Given the description of an element on the screen output the (x, y) to click on. 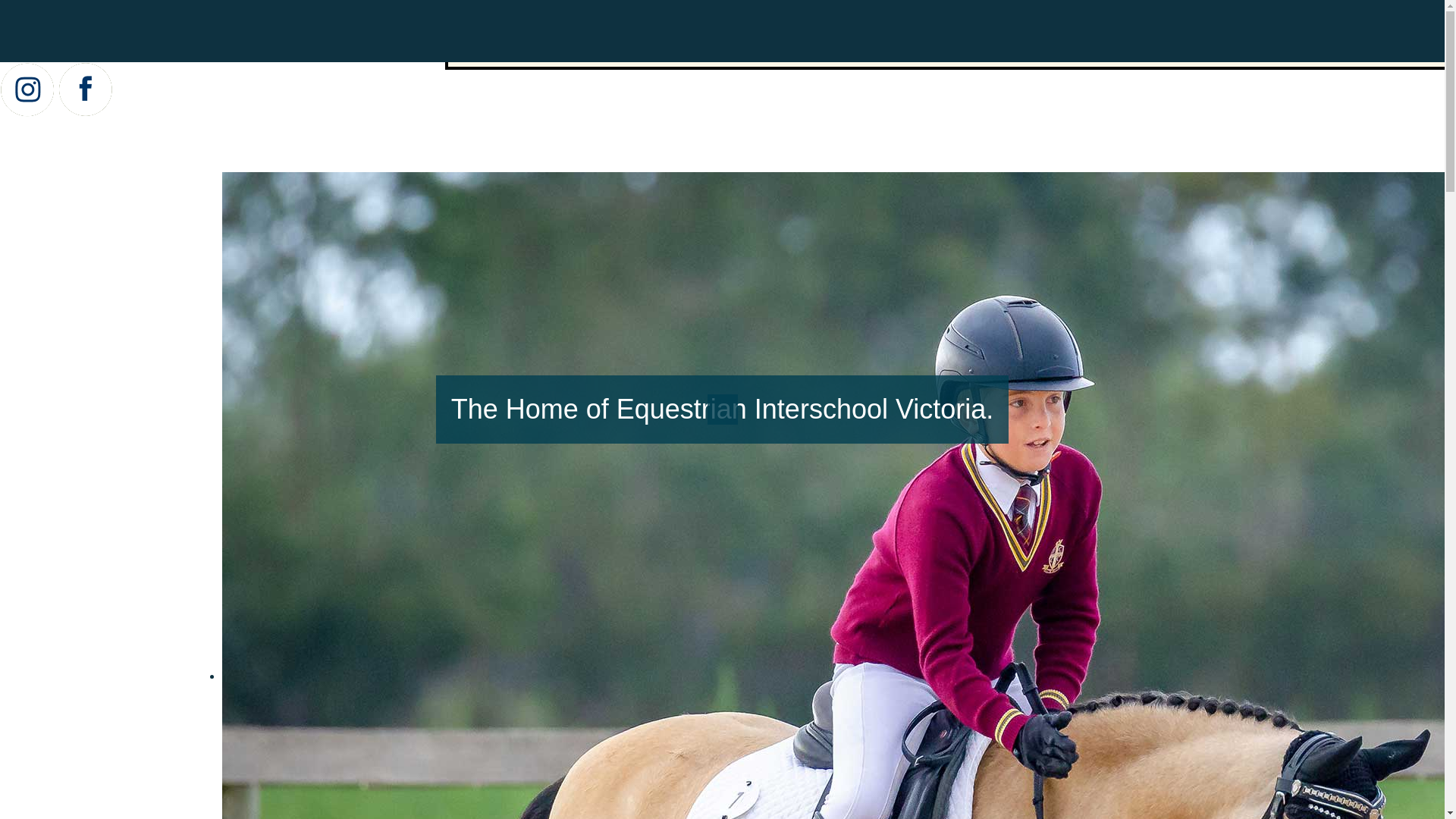
EVENTS Element type: text (1290, 47)
COMBINED TRAINING Element type: text (667, 47)
DISCIPLINES Element type: text (512, 47)
JUMPING Element type: text (1048, 47)
DRESSAGE Element type: text (816, 47)
SHOW HORSE Element type: text (1171, 47)
EVENTING Element type: text (933, 47)
